Given the description of an element on the screen output the (x, y) to click on. 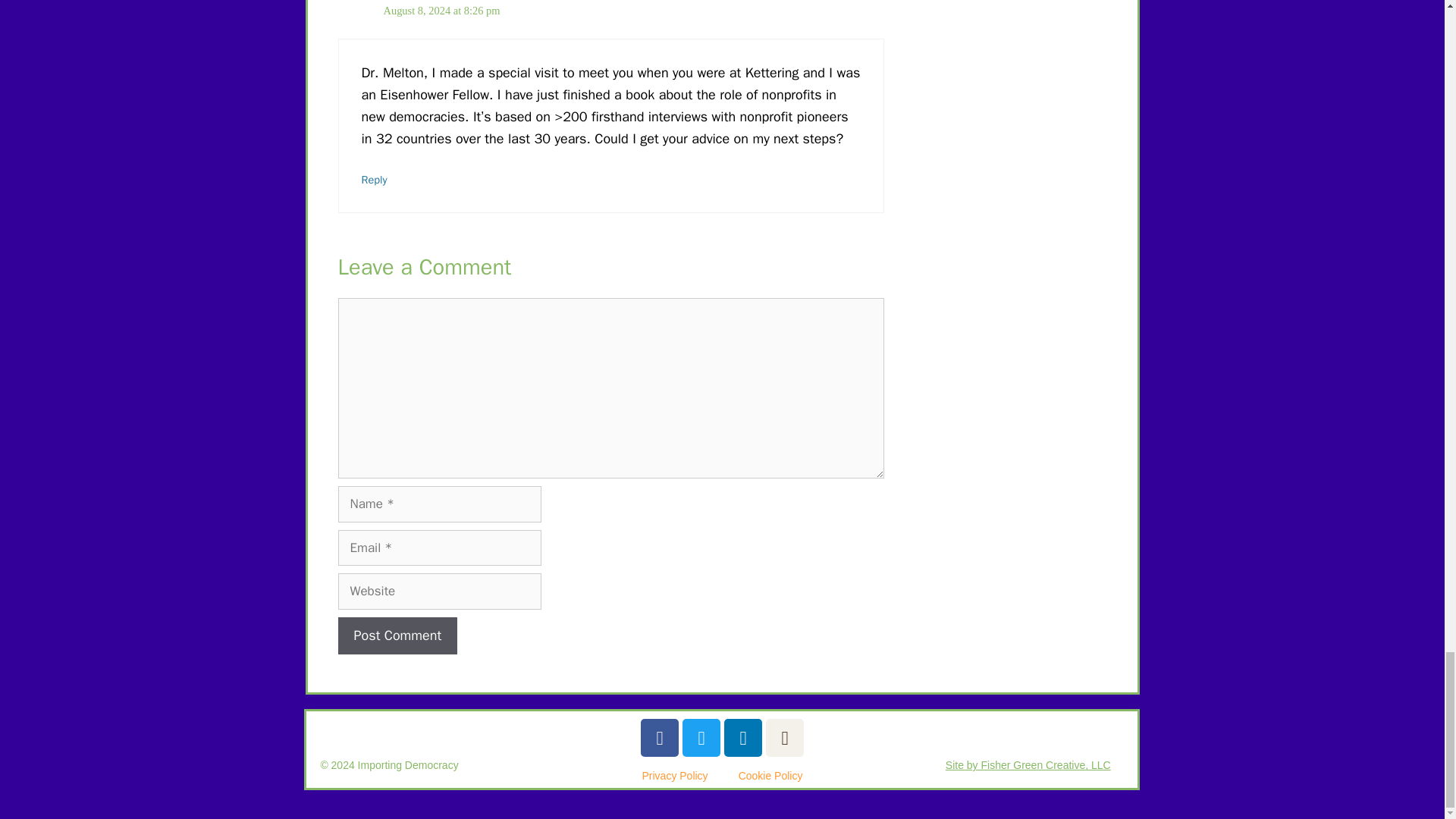
Post Comment (397, 635)
Post Comment (397, 635)
August 8, 2024 at 8:26 pm (442, 10)
Reply (374, 179)
